Given the description of an element on the screen output the (x, y) to click on. 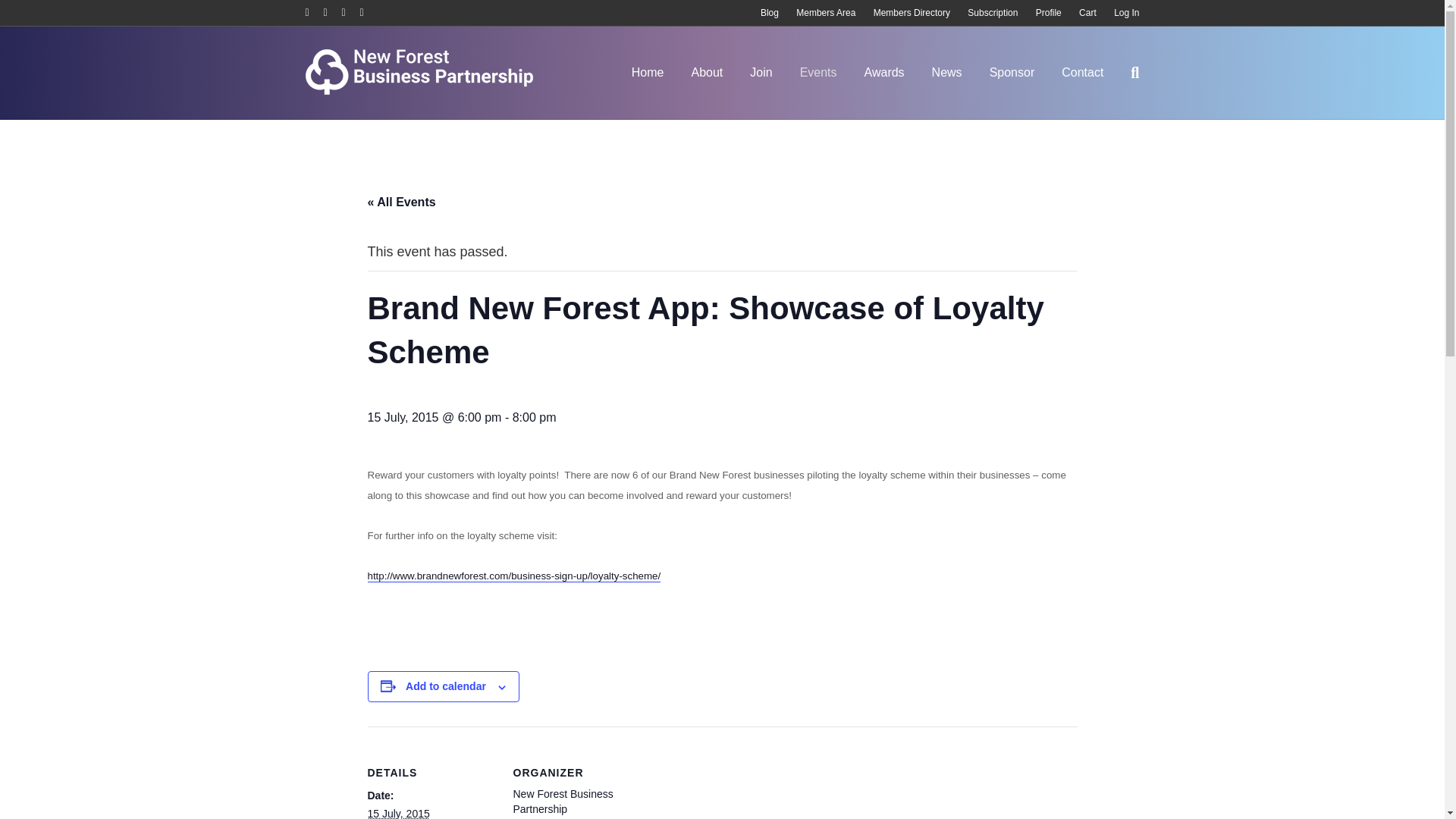
Email (368, 11)
Blog (769, 13)
Cart (1087, 13)
2015-07-15 (397, 813)
Members Area (826, 13)
Log In (1126, 13)
Linkedin (349, 11)
Profile (1047, 13)
Facebook (313, 11)
Members Directory (912, 13)
